Given the description of an element on the screen output the (x, y) to click on. 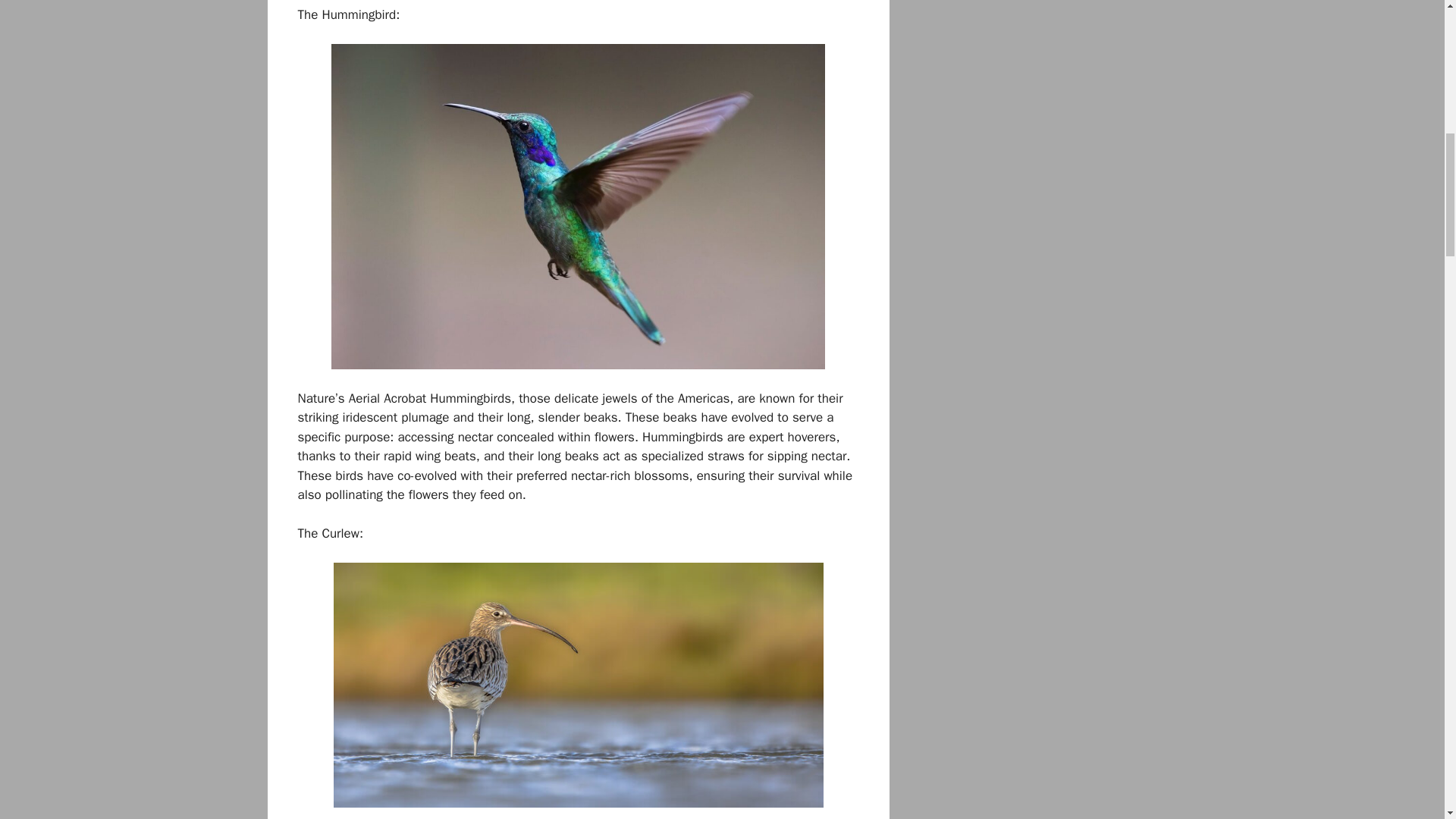
Scroll back to top (1406, 720)
